Given the description of an element on the screen output the (x, y) to click on. 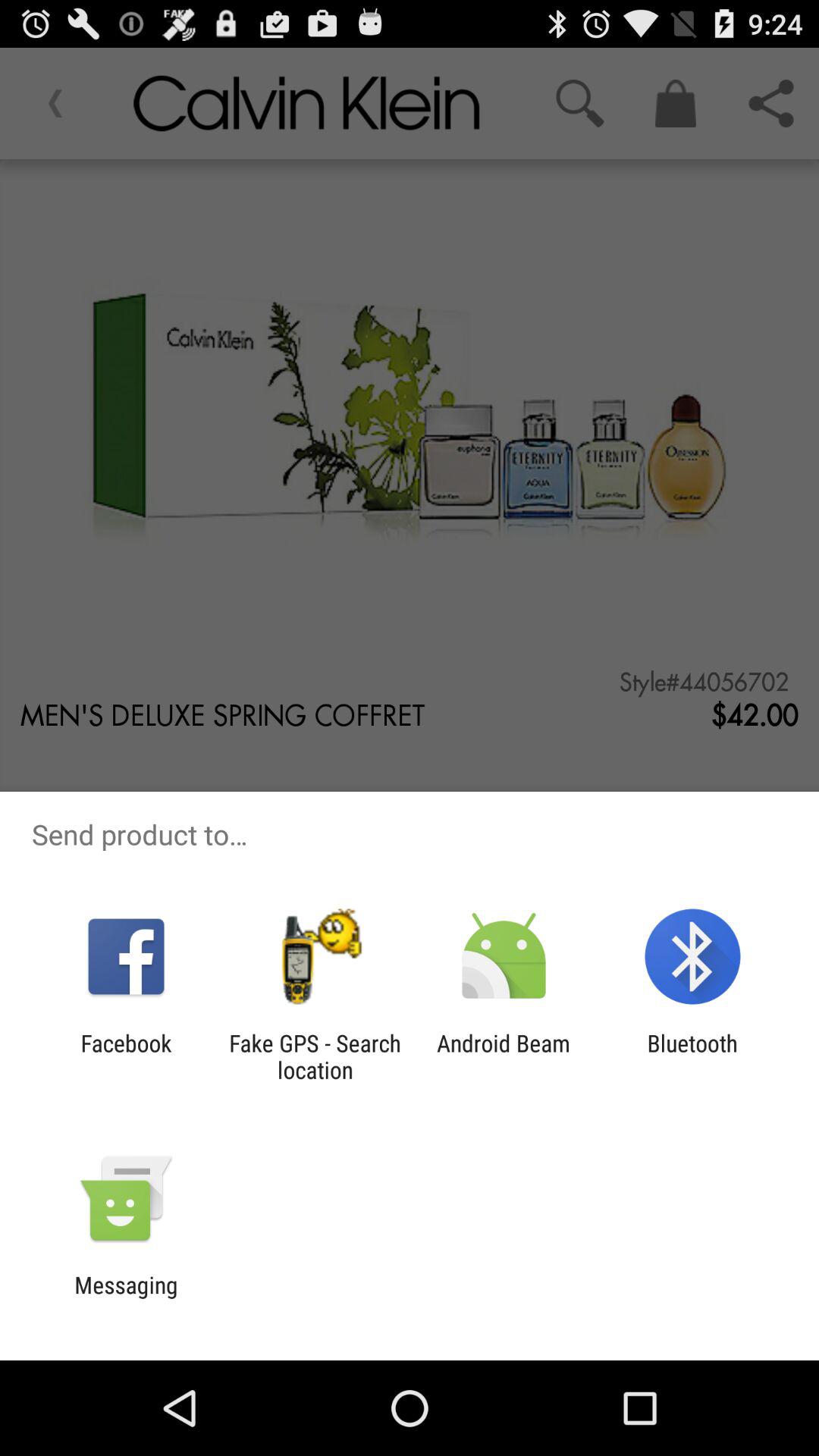
choose the item to the right of the facebook app (314, 1056)
